Given the description of an element on the screen output the (x, y) to click on. 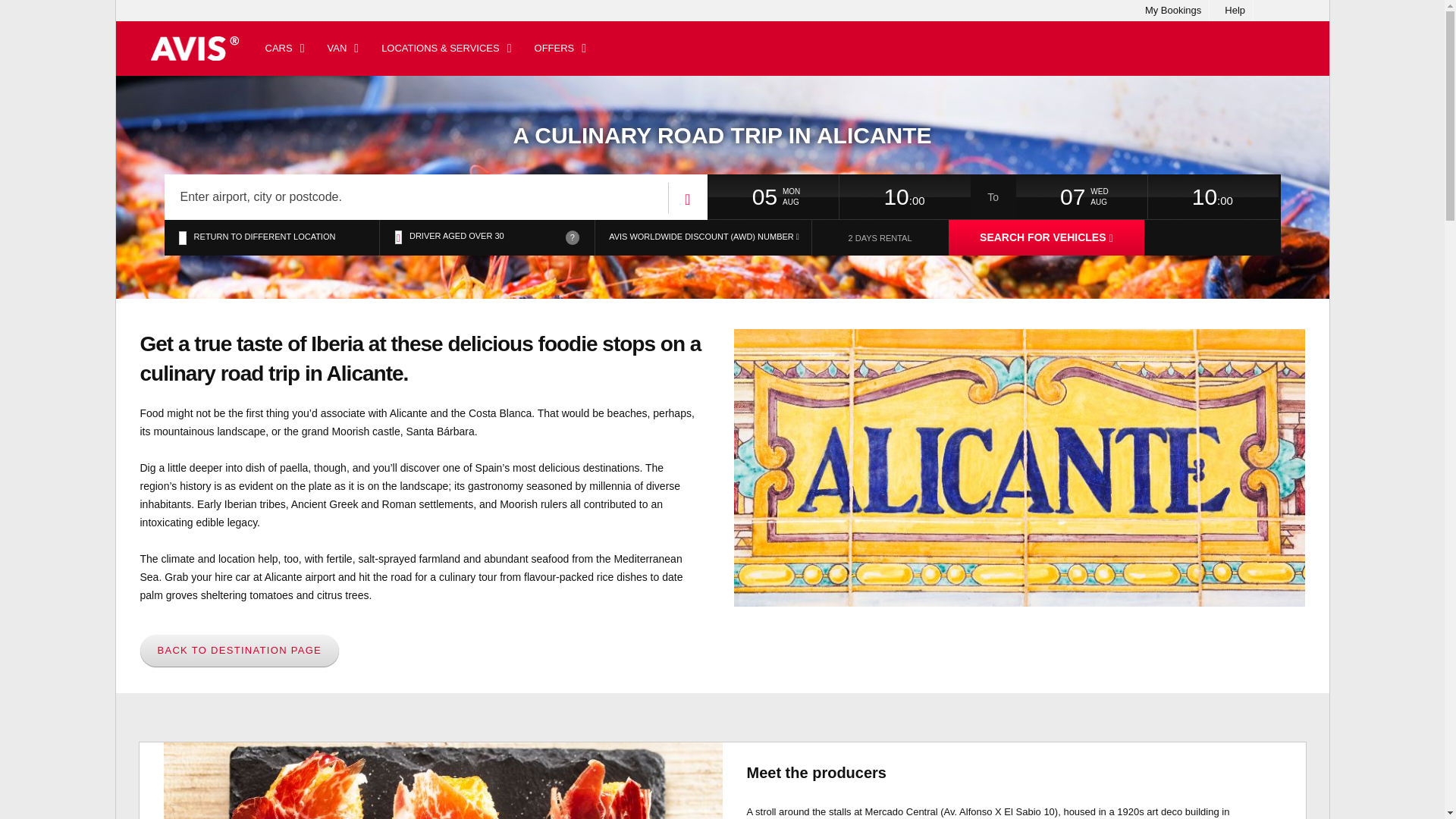
Help (1234, 10)
Wednesday (1118, 191)
CARS (284, 48)
VAN (343, 48)
Monday (810, 191)
OFFERS (560, 48)
My Bookings (1172, 10)
August (810, 202)
August (1118, 202)
